Given the description of an element on the screen output the (x, y) to click on. 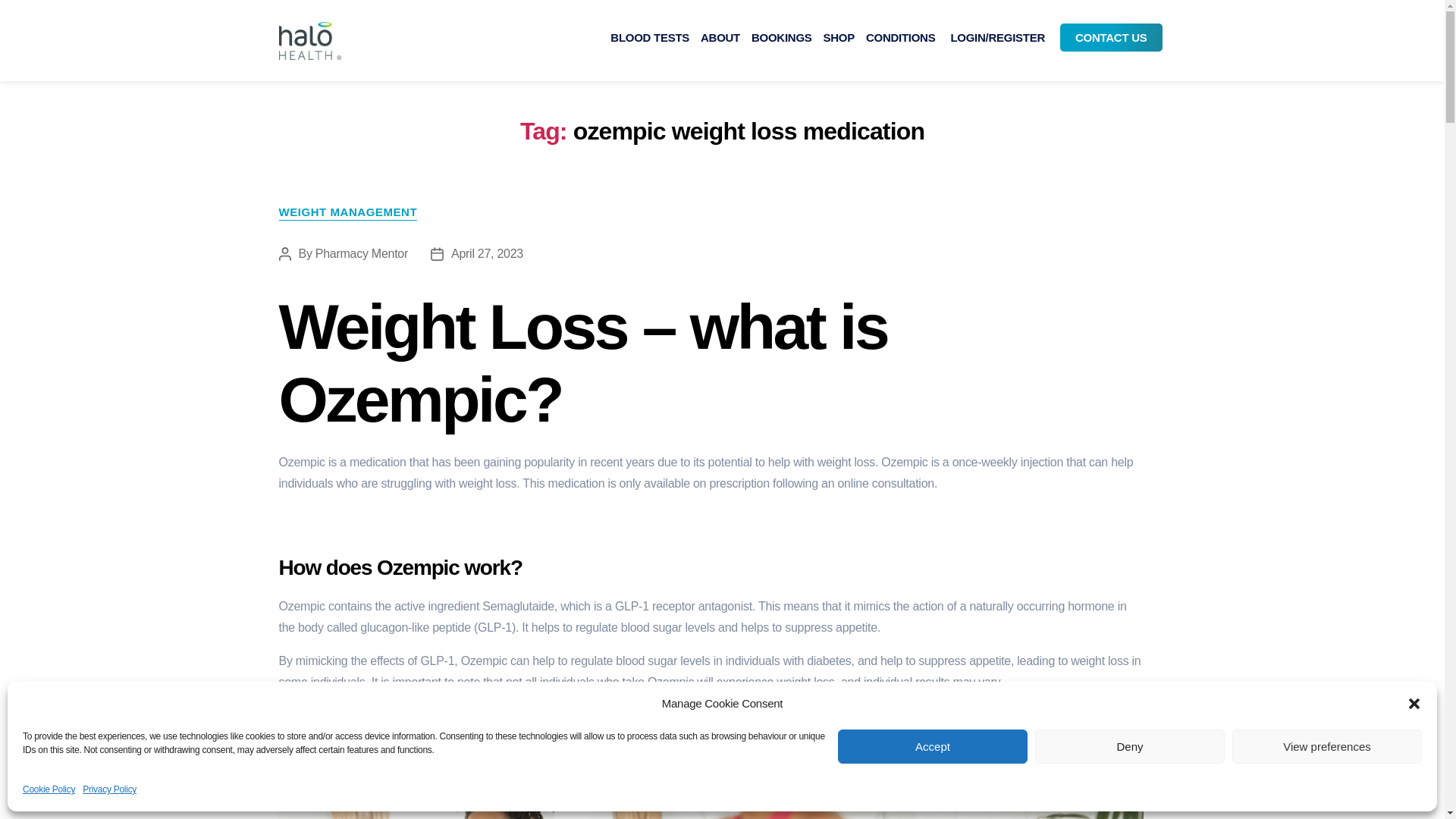
Privacy Policy (109, 789)
CONTACT US (1110, 37)
Deny (1129, 746)
Cookie Policy (49, 789)
SHOP (839, 37)
CONDITIONS (900, 37)
Accept (932, 746)
ABOUT (719, 37)
BOOKINGS (781, 37)
BLOOD TESTS (649, 37)
View preferences (1326, 746)
